Given the description of an element on the screen output the (x, y) to click on. 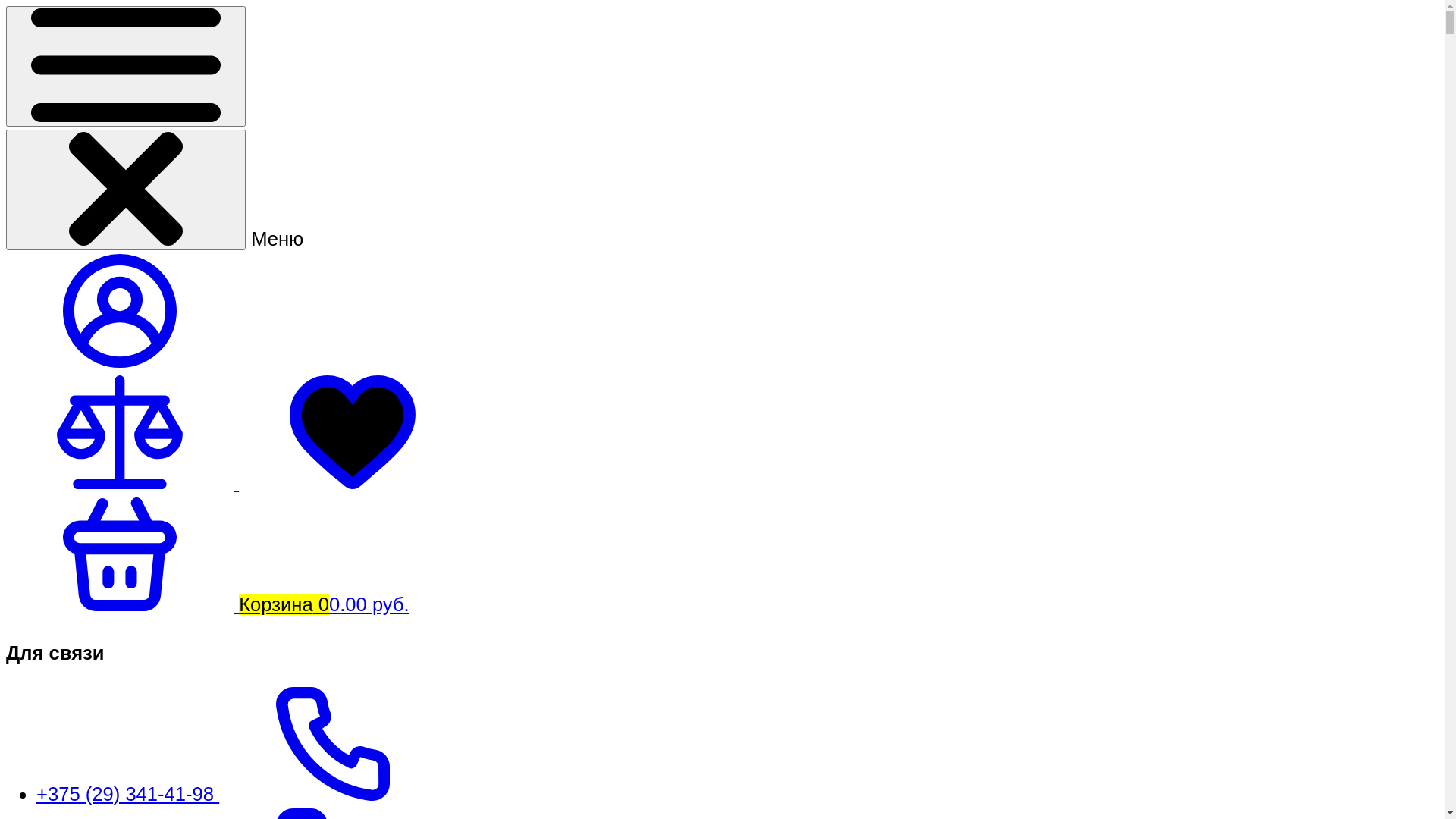
+375 (29) 341-41-98 Element type: text (241, 793)
